Given the description of an element on the screen output the (x, y) to click on. 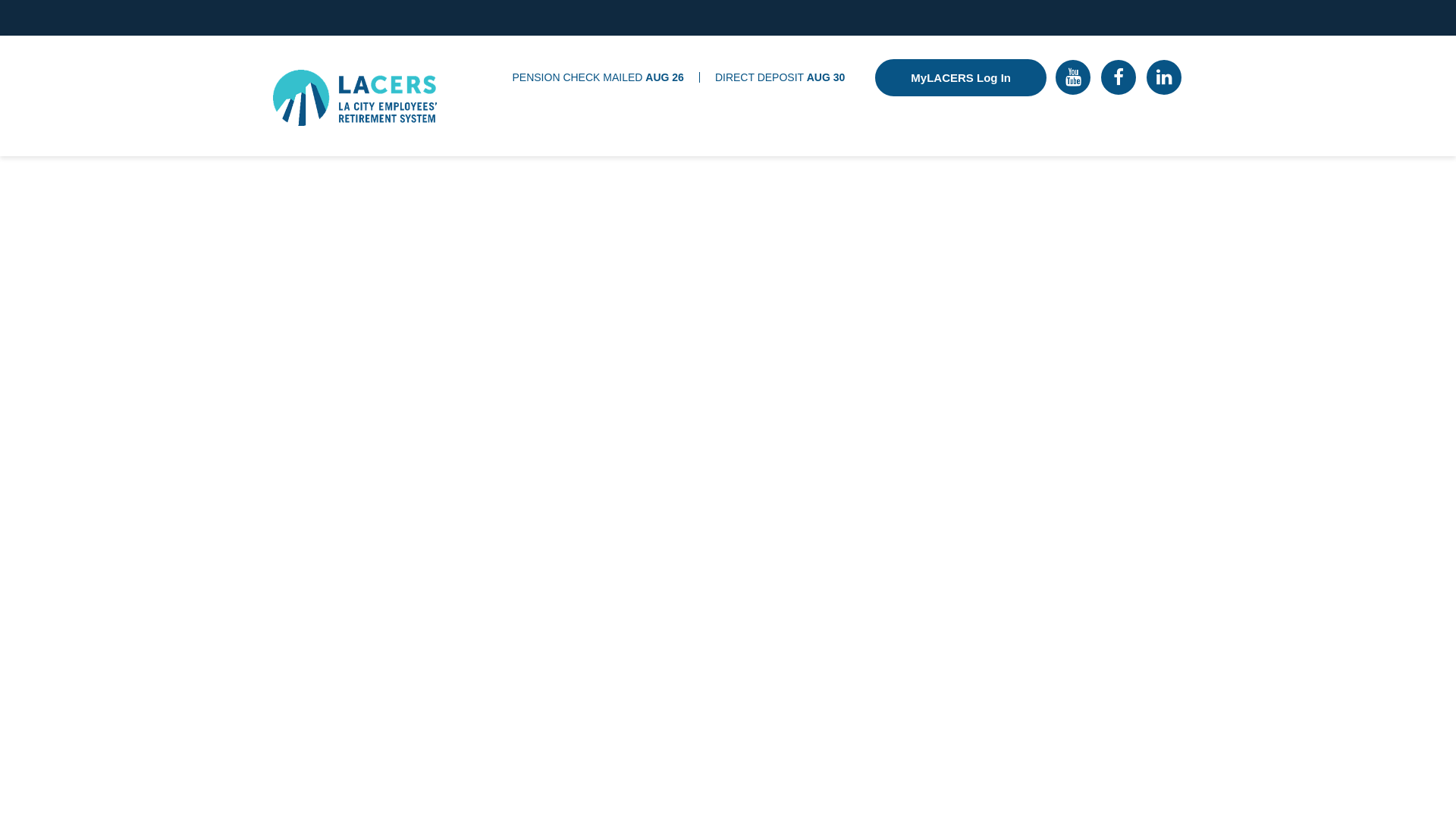
PENSION CHECK MAILED AUG 26 (598, 77)
YouTube (1073, 77)
DIRECT DEPOSIT AUG 30 (779, 77)
Facebook (1118, 77)
Linkedin (1163, 77)
MyLACERS Log In (960, 77)
